Given the description of an element on the screen output the (x, y) to click on. 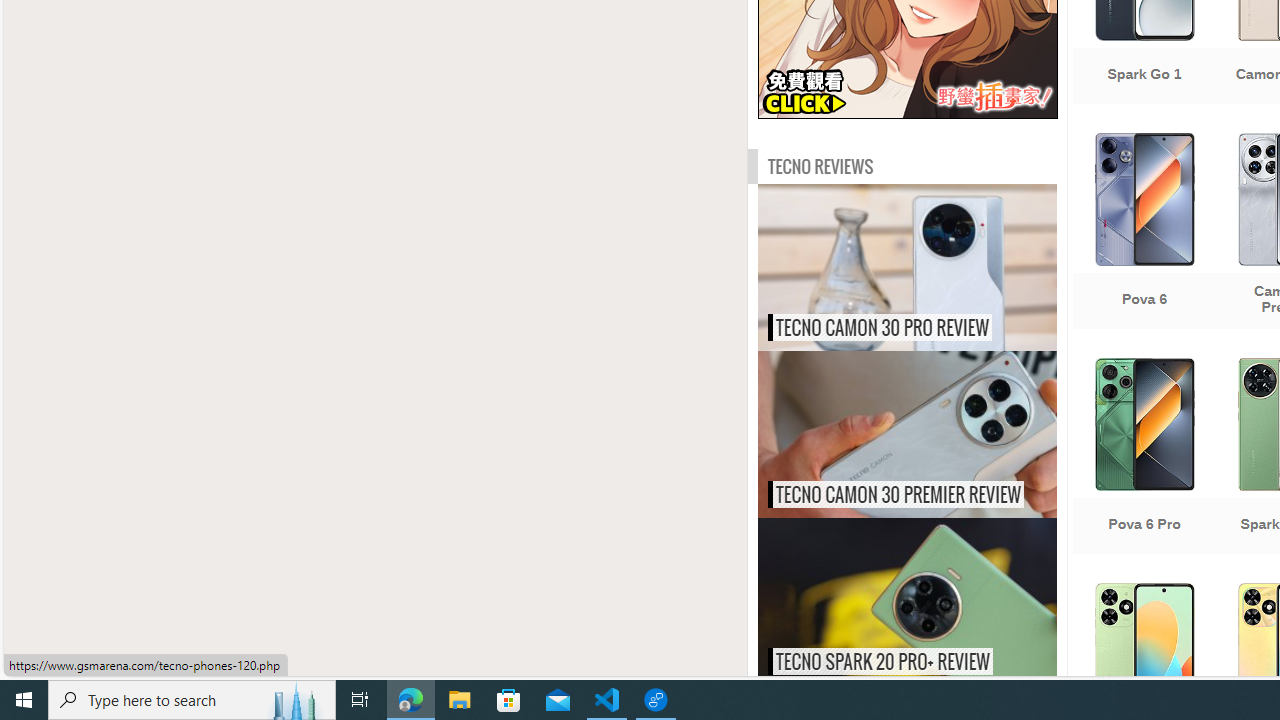
Pova 6 Pro (1144, 458)
Tecno Camon 30 Premier review (949, 434)
Tecno Spark 20 Pro+ review (949, 600)
Pova 6 (1144, 233)
Tecno Camon 30 Pro review TECNO CAMON 30 PRO REVIEW (907, 267)
Tecno Camon 30 Pro review (949, 267)
Tecno Spark 20 Pro+ review TECNO SPARK 20 PRO+ REVIEW (907, 600)
Tecno Camon 30 Premier review TECNO CAMON 30 PREMIER REVIEW (907, 434)
